Given the description of an element on the screen output the (x, y) to click on. 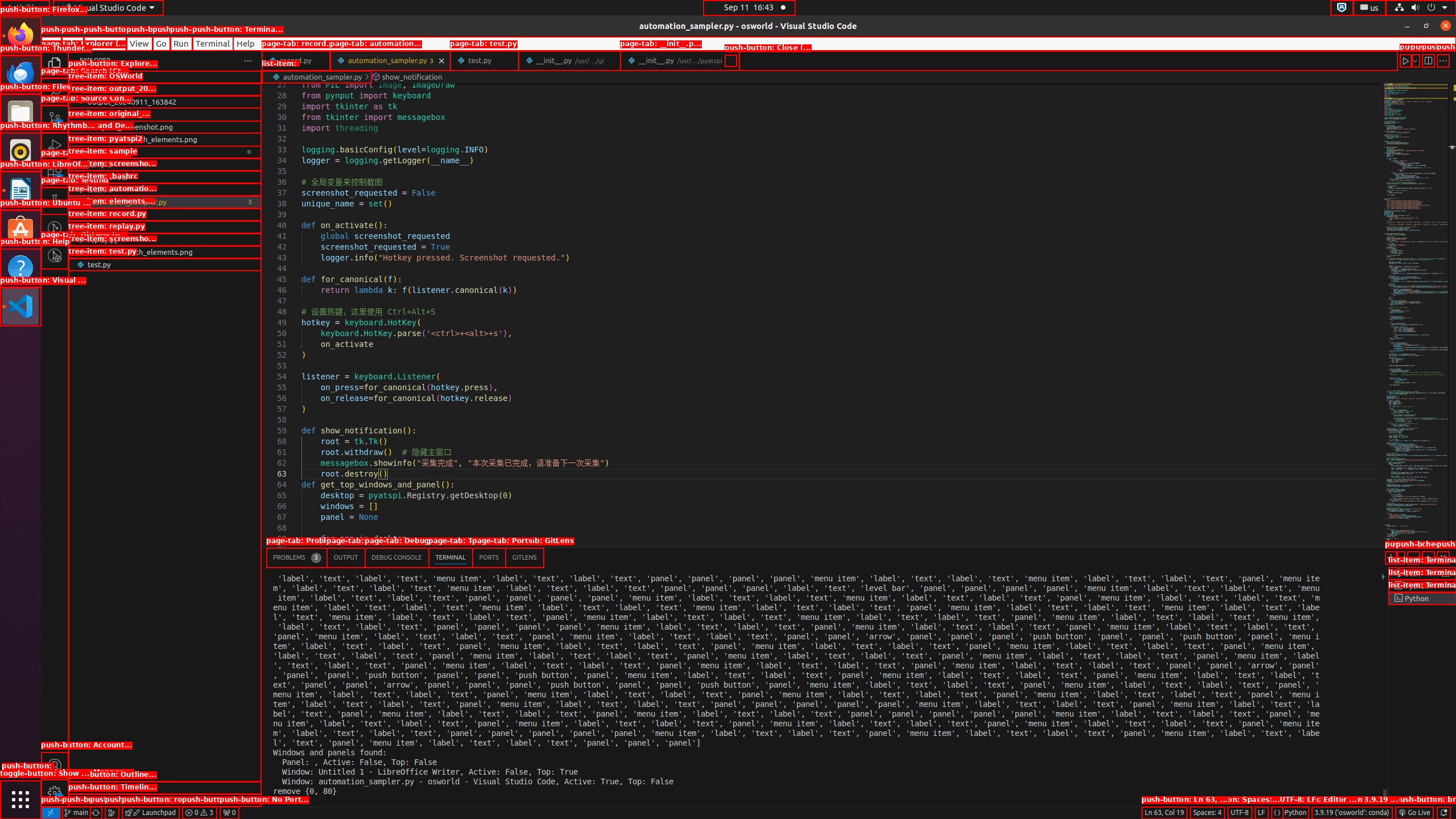
screenshot_with_elements.png Element type: tree-item (164, 251)
Maximize Panel Size Element type: check-box (1427, 557)
Active View Switcher Element type: page-tab-list (404, 557)
Warnings: 3 Element type: push-button (199, 812)
Accounts Element type: push-button (54, 765)
